Given the description of an element on the screen output the (x, y) to click on. 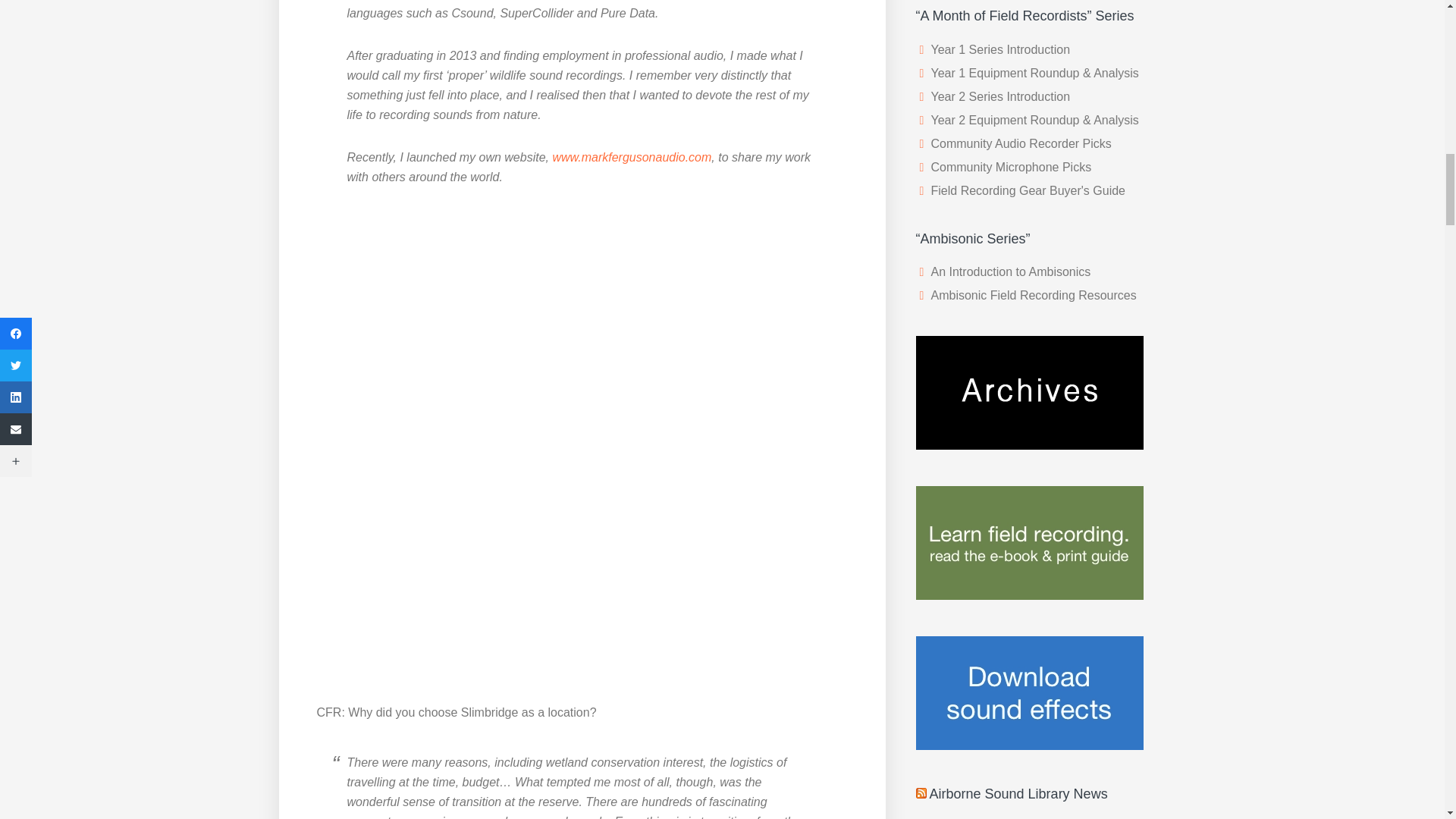
www.markfergusonaudio.com (631, 156)
